Given the description of an element on the screen output the (x, y) to click on. 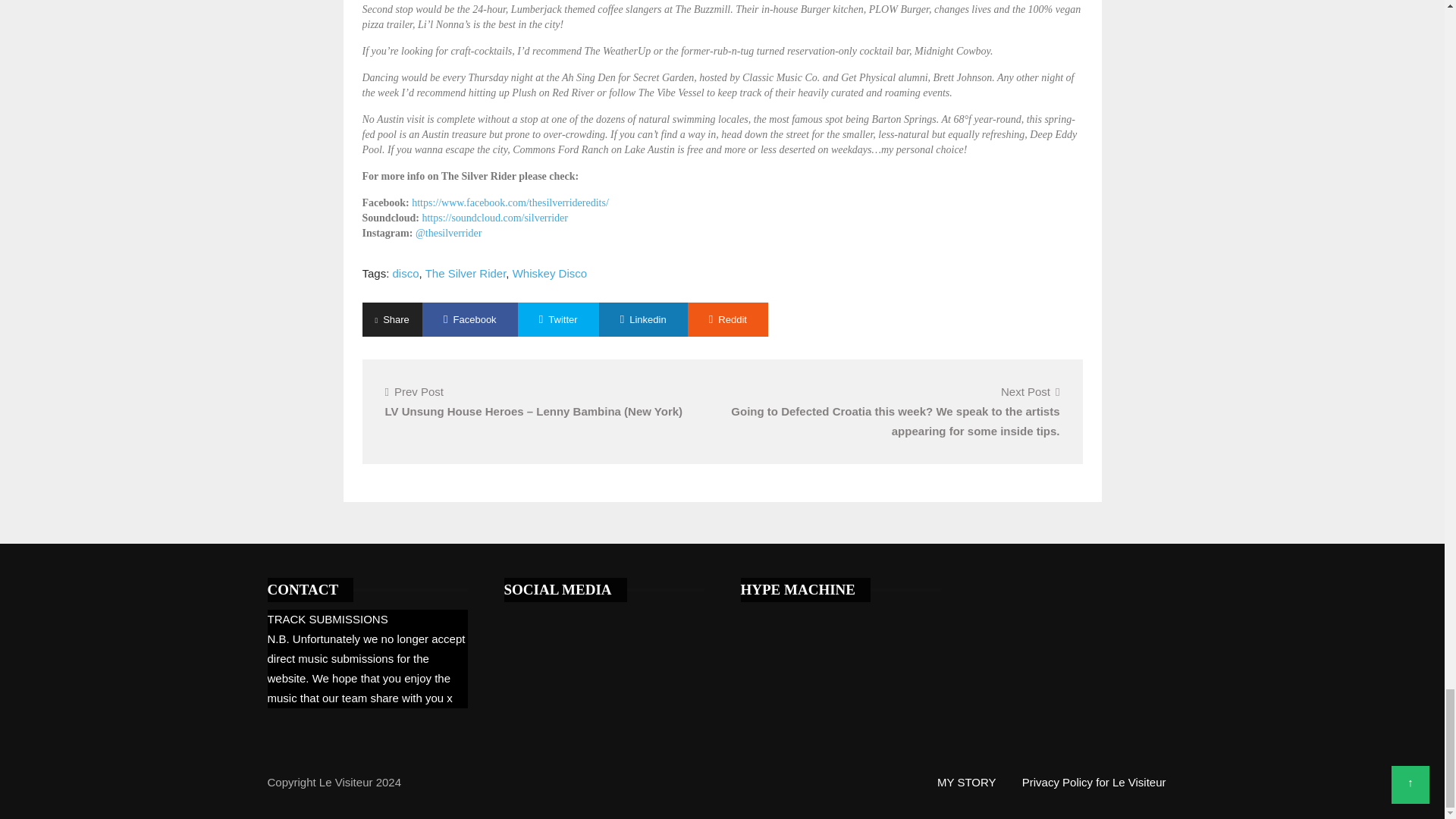
Visit Us On Instagram (591, 618)
Visit Us On Facebook (541, 618)
Visit Us On Youtube (565, 618)
Visit Us On Twitter (515, 618)
